Given the description of an element on the screen output the (x, y) to click on. 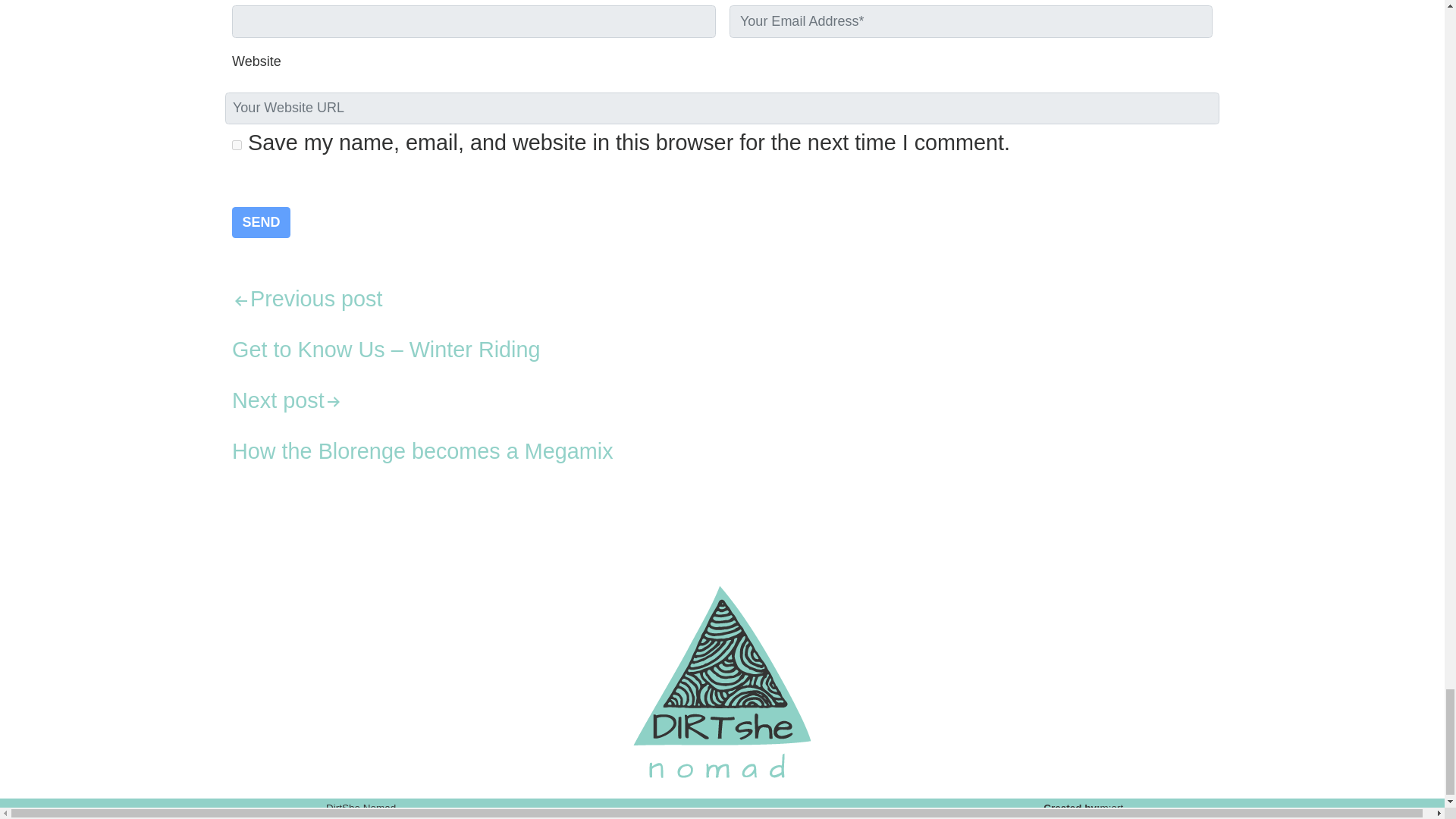
Send (260, 222)
yes (236, 144)
